Given the description of an element on the screen output the (x, y) to click on. 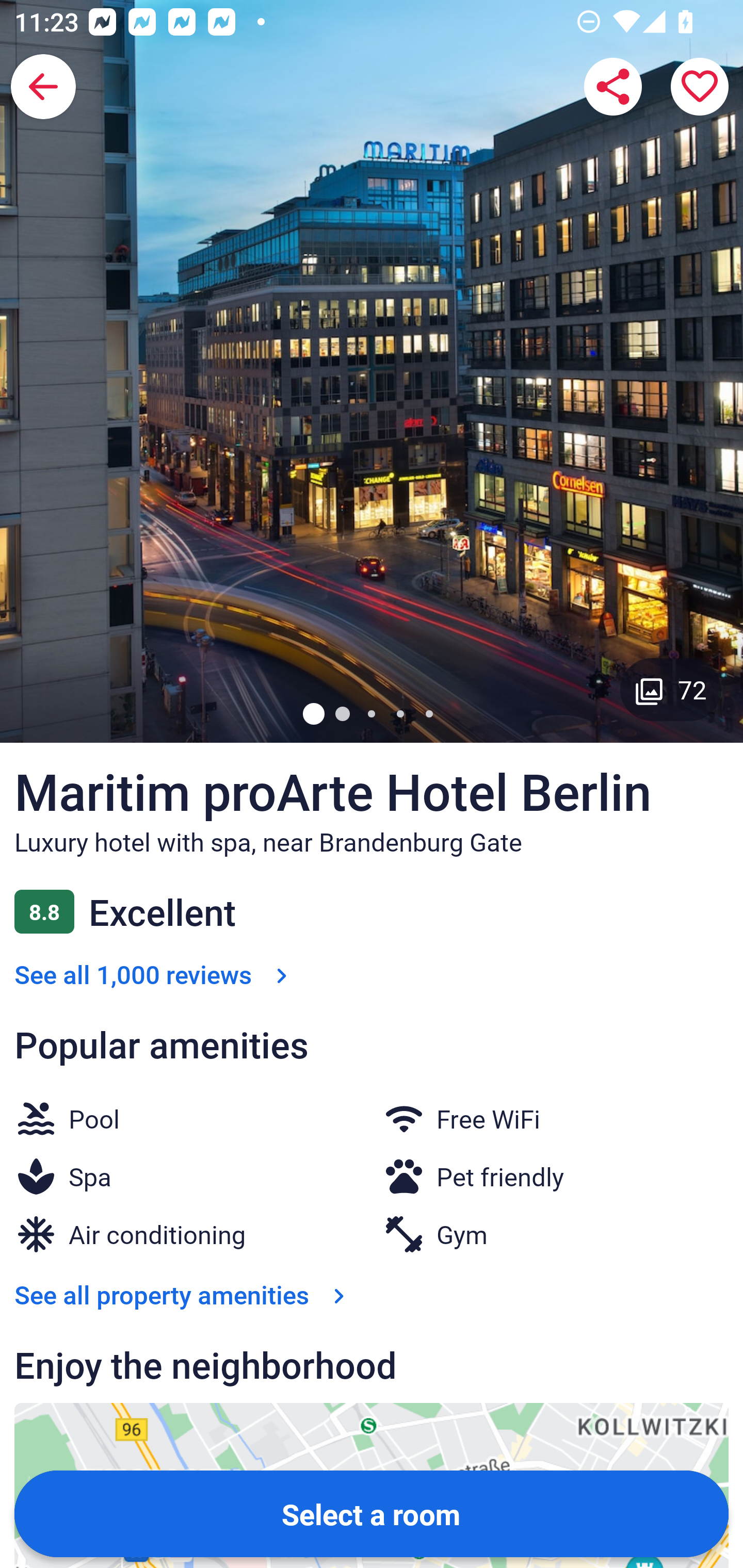
Back (43, 86)
Save property to a trip (699, 86)
Share Maritim proArte Hotel Berlin (612, 87)
Gallery button with 72 images (670, 689)
See all 1,000 reviews See all 1,000 reviews Link (154, 974)
See all property amenities (183, 1294)
Select a room Button Select a room (371, 1513)
